Given the description of an element on the screen output the (x, y) to click on. 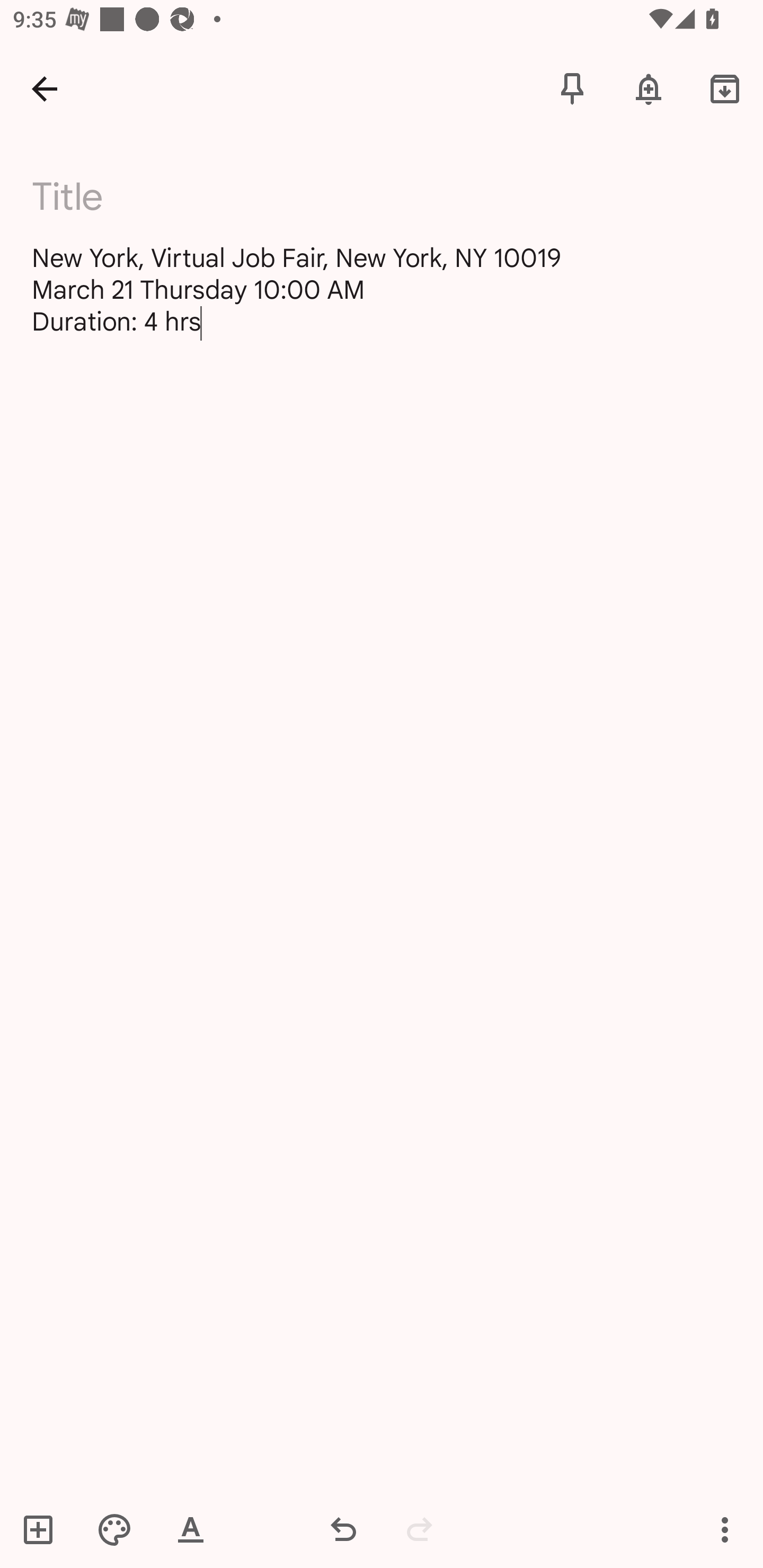
Navigate up (44, 88)
Pin (572, 88)
Reminder (648, 88)
Archive (724, 88)
Title (392, 196)
New list (44, 1529)
Theme (114, 1529)
Show formatting controls (190, 1529)
Undo (343, 1529)
Redo (419, 1529)
Action (724, 1529)
